Given the description of an element on the screen output the (x, y) to click on. 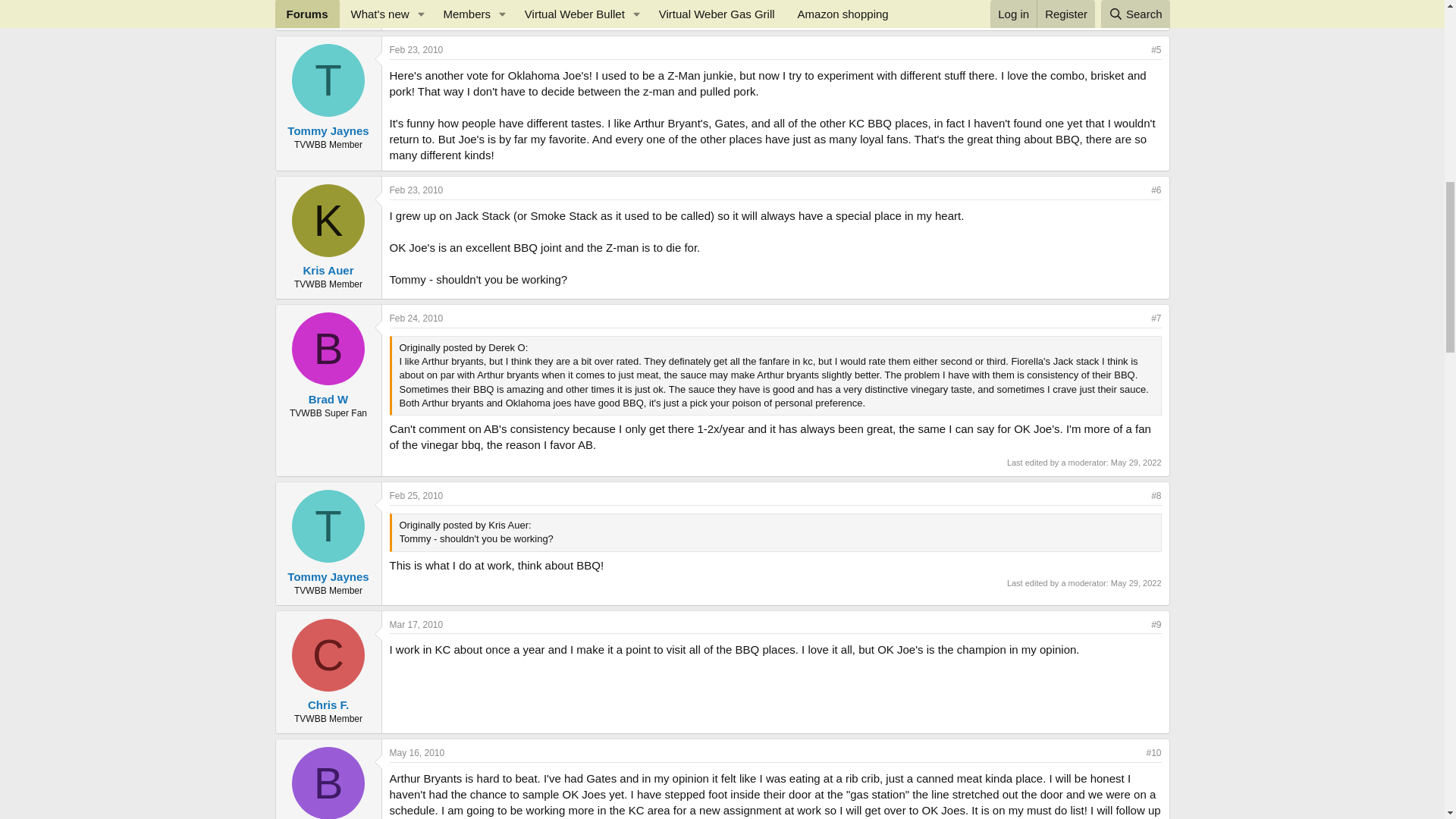
May 29, 2022 at 4:43 PM (1135, 583)
Feb 23, 2010 at 7:53 AM (417, 50)
Mar 17, 2010 at 6:00 PM (417, 624)
May 16, 2010 at 4:01 AM (417, 752)
Feb 23, 2010 at 8:23 AM (417, 190)
Feb 25, 2010 at 6:21 AM (417, 495)
May 29, 2022 at 4:42 PM (1135, 461)
Feb 24, 2010 at 5:30 PM (417, 317)
